Given the description of an element on the screen output the (x, y) to click on. 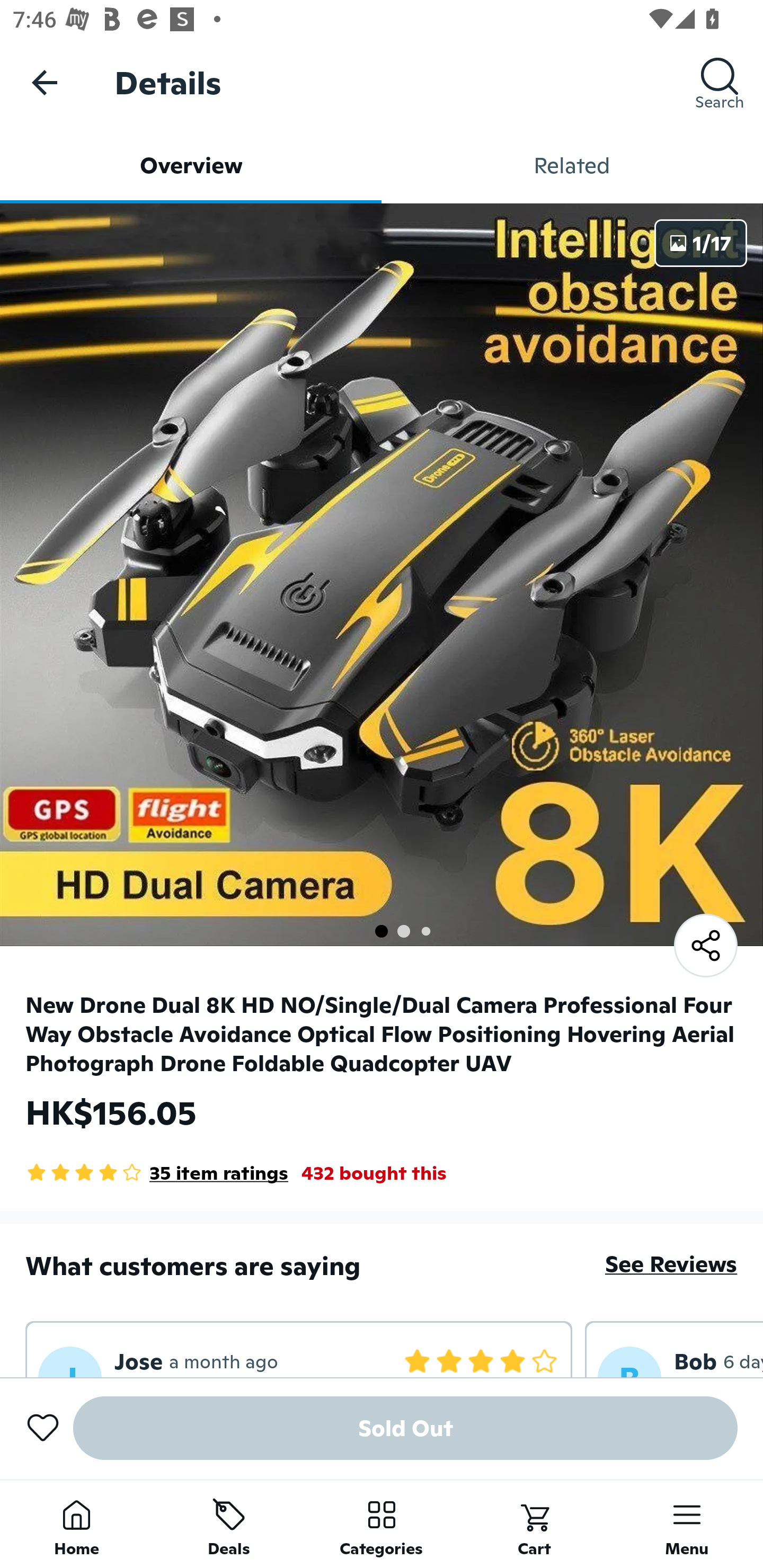
Navigate up (44, 82)
Search (719, 82)
Related (572, 165)
1/17 (700, 242)
3.8 Star Rating 35 item ratings (156, 1172)
See Reviews (671, 1264)
J Jose a month ago 4 Star Rating Joined 2018  (298, 1348)
Sold Out (405, 1428)
Home (76, 1523)
Deals (228, 1523)
Categories (381, 1523)
Cart (533, 1523)
Menu (686, 1523)
